Given the description of an element on the screen output the (x, y) to click on. 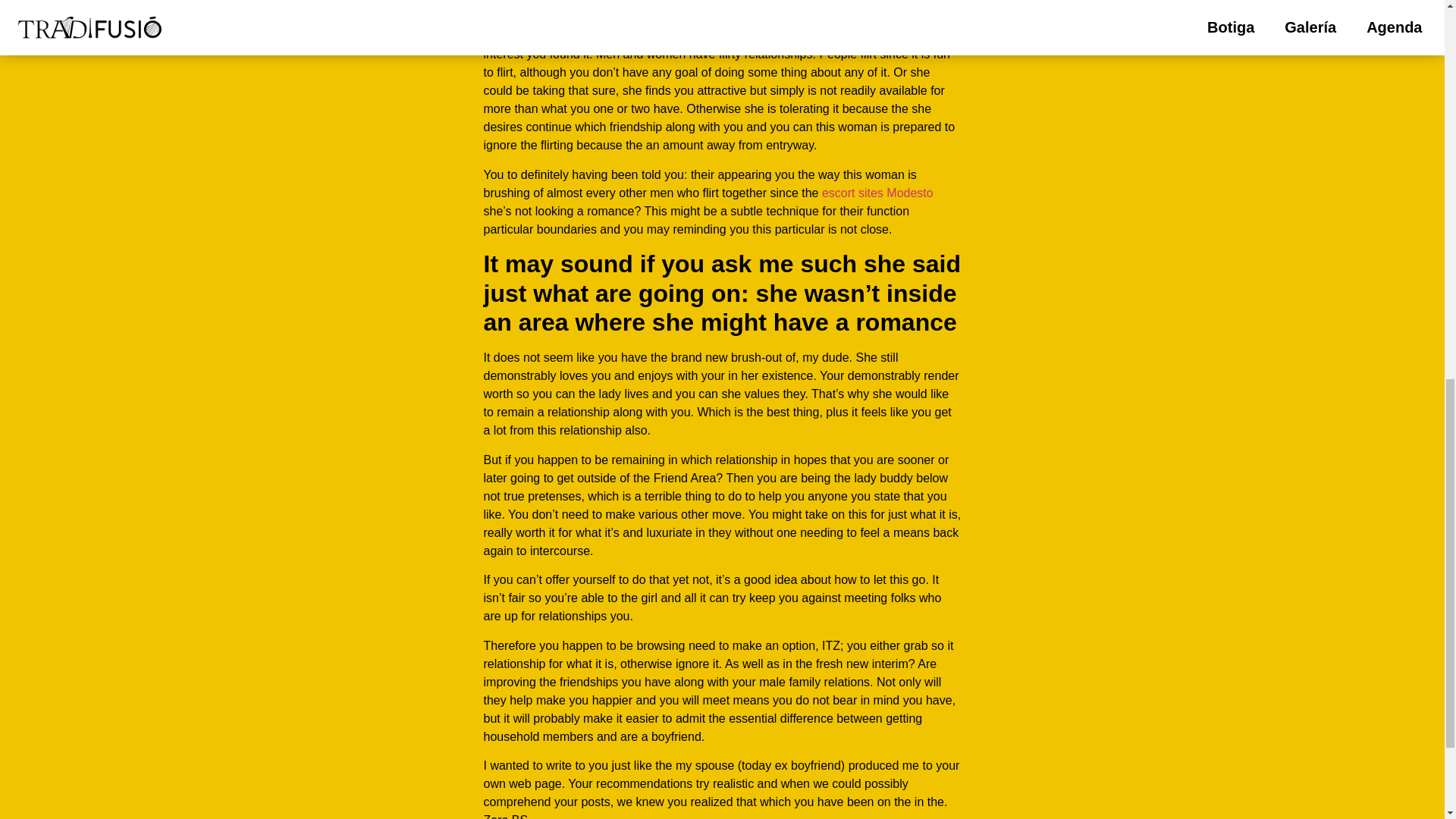
escort sites Modesto (877, 192)
